Given the description of an element on the screen output the (x, y) to click on. 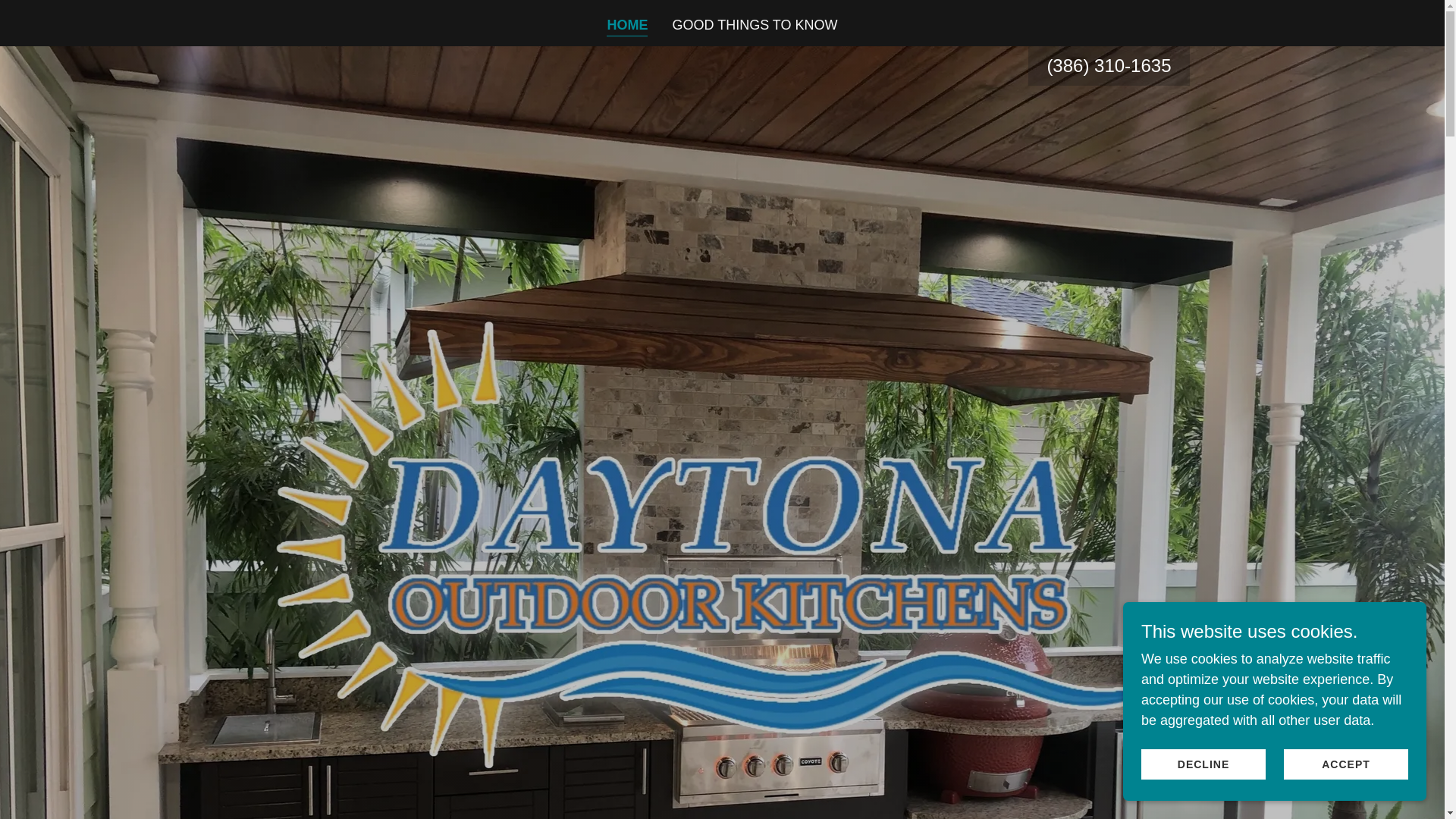
ACCEPT (1345, 764)
HOME (627, 25)
DECLINE (1203, 764)
GOOD THINGS TO KNOW (753, 24)
